Given the description of an element on the screen output the (x, y) to click on. 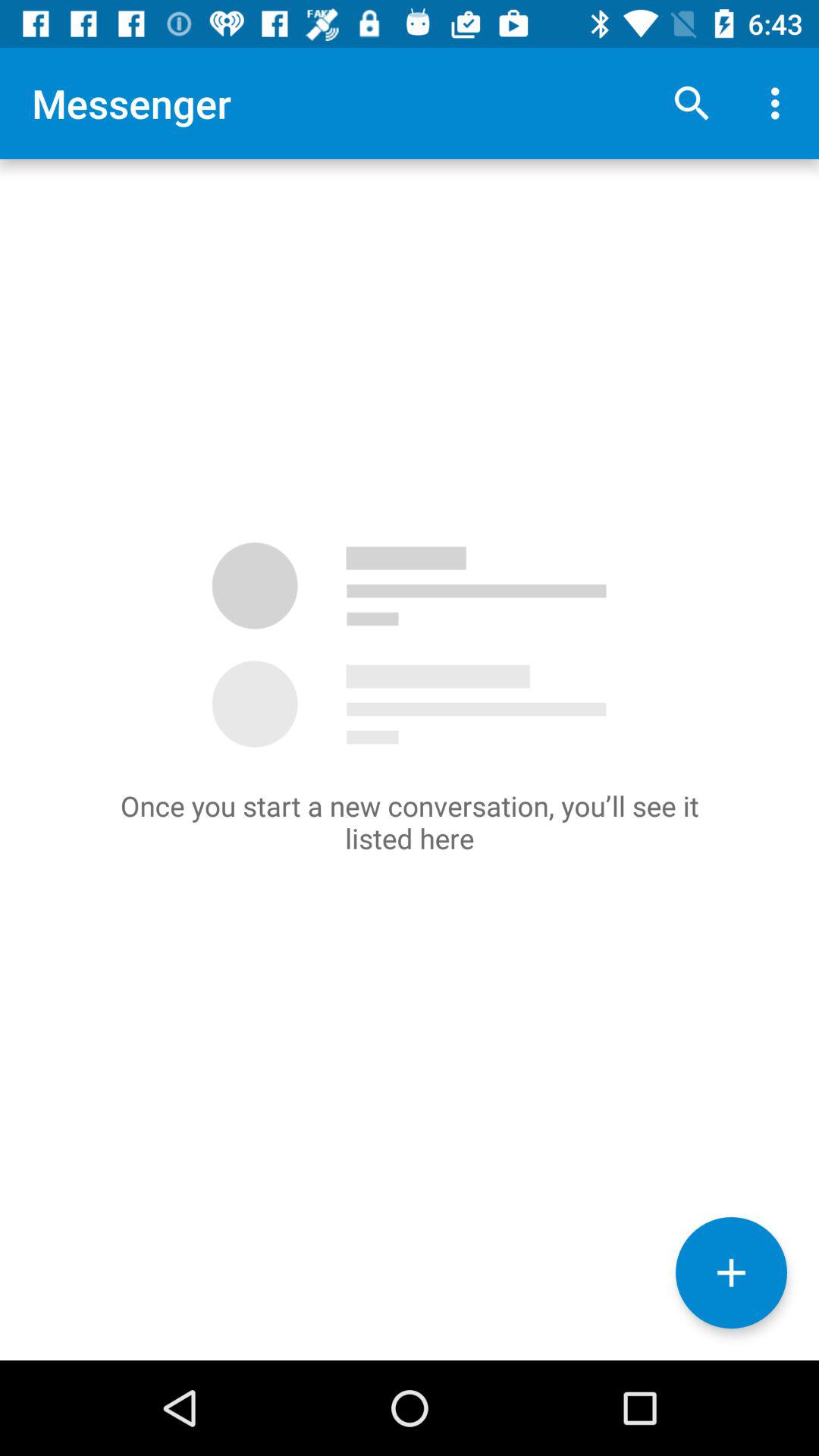
choose the icon next to the messenger icon (691, 103)
